Given the description of an element on the screen output the (x, y) to click on. 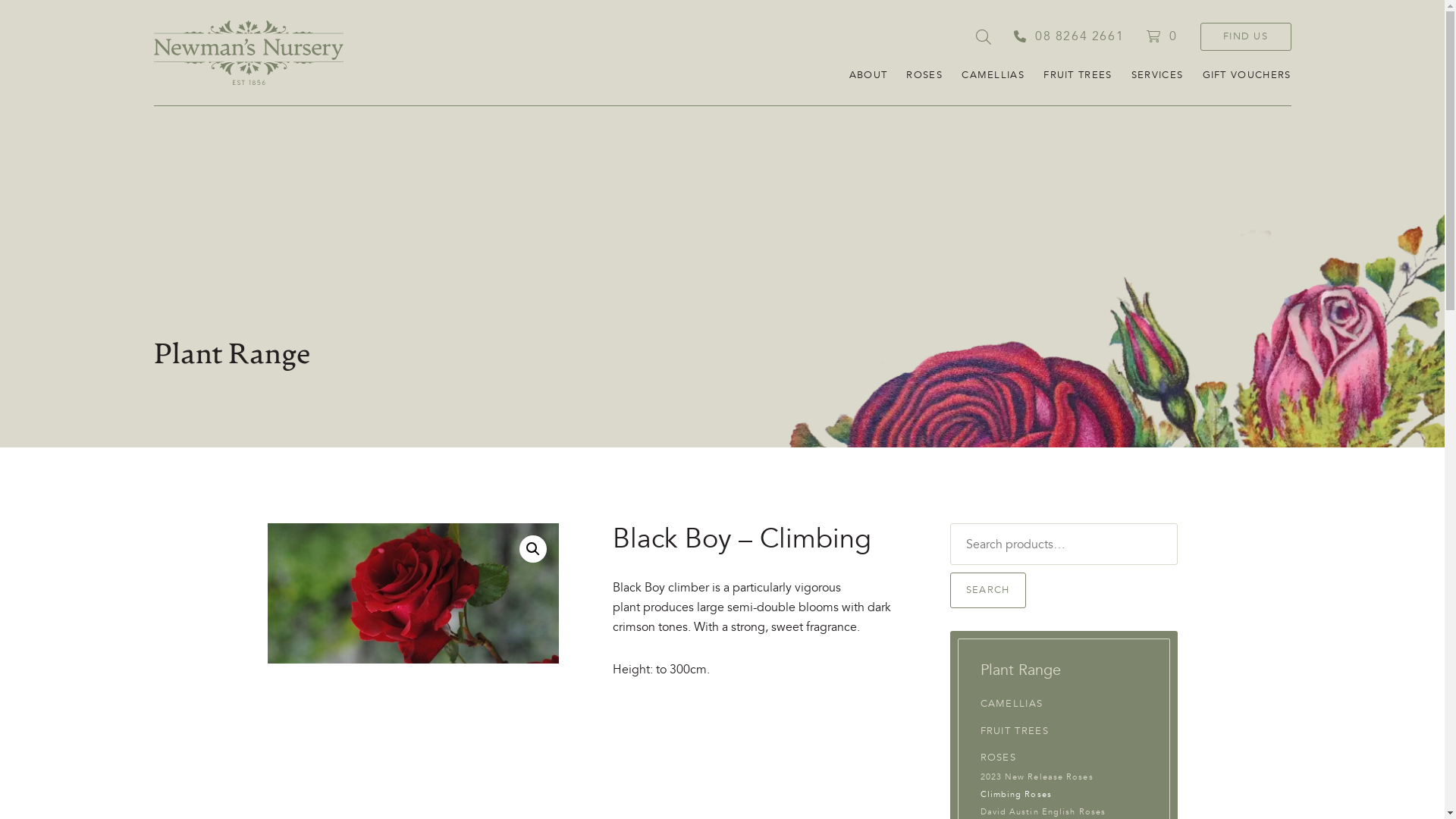
Climbing Roses Element type: text (1015, 794)
CAMELLIAS Element type: text (1010, 703)
black-boy Element type: hover (412, 593)
ABOUT Element type: text (868, 75)
FIND US Element type: text (1244, 36)
ROSES Element type: text (997, 757)
2023 New Release Roses Element type: text (1035, 776)
GIFT VOUCHERS Element type: text (1246, 75)
David Austin English Roses Element type: text (1042, 811)
08 8264 2661 Element type: text (1068, 36)
CAMELLIAS Element type: text (992, 75)
FRUIT TREES Element type: text (1077, 75)
FRUIT TREES Element type: text (1013, 730)
0 Element type: text (1161, 36)
SERVICES Element type: text (1157, 75)
SEARCH Element type: text (987, 590)
ROSES Element type: text (924, 75)
